Given the description of an element on the screen output the (x, y) to click on. 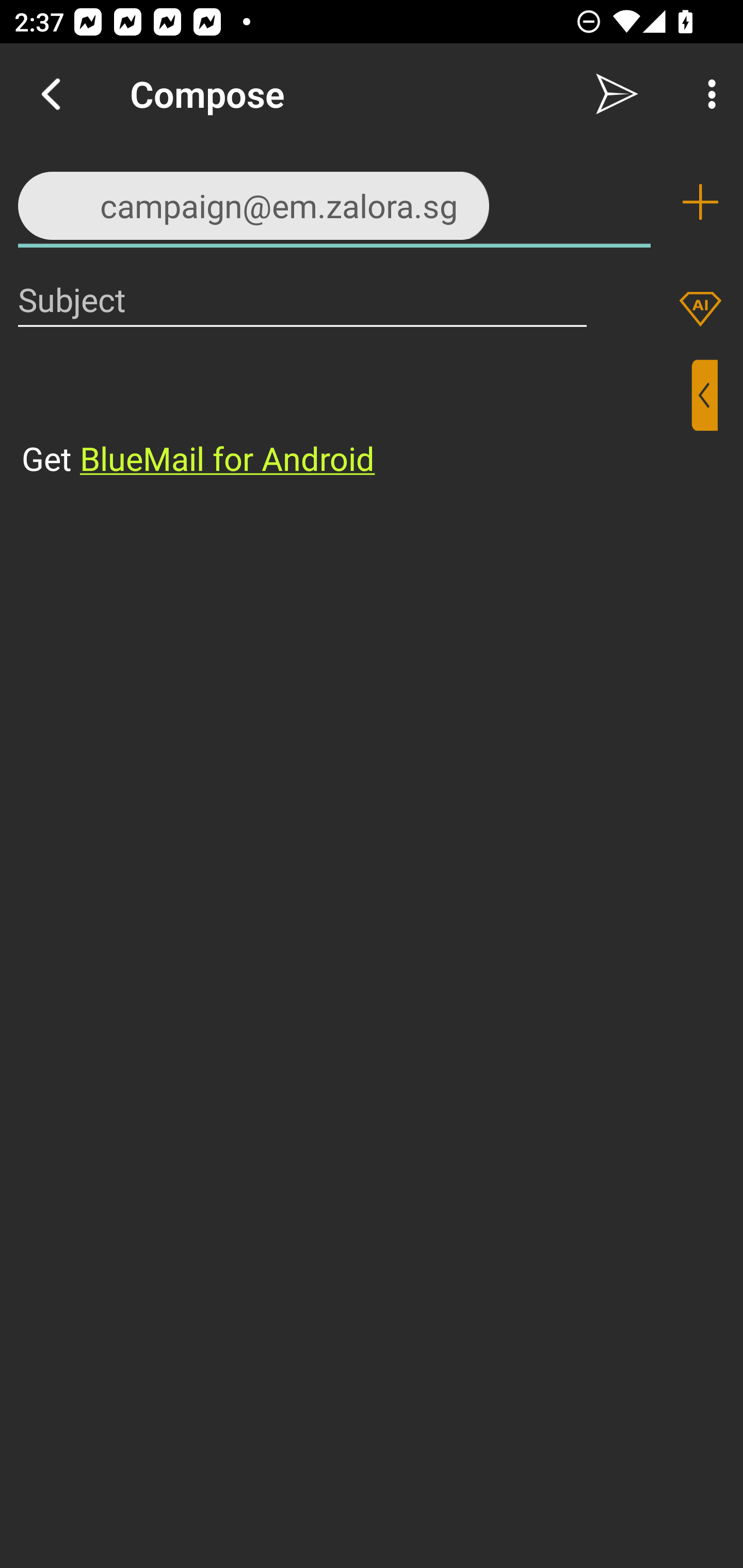
Navigate up (50, 93)
Send (616, 93)
More Options (706, 93)
<campaign@em.zalora.sg>,  (334, 201)
Add recipient (To) (699, 201)
Subject (302, 299)


⁣Get BlueMail for Android ​ (355, 419)
